Given the description of an element on the screen output the (x, y) to click on. 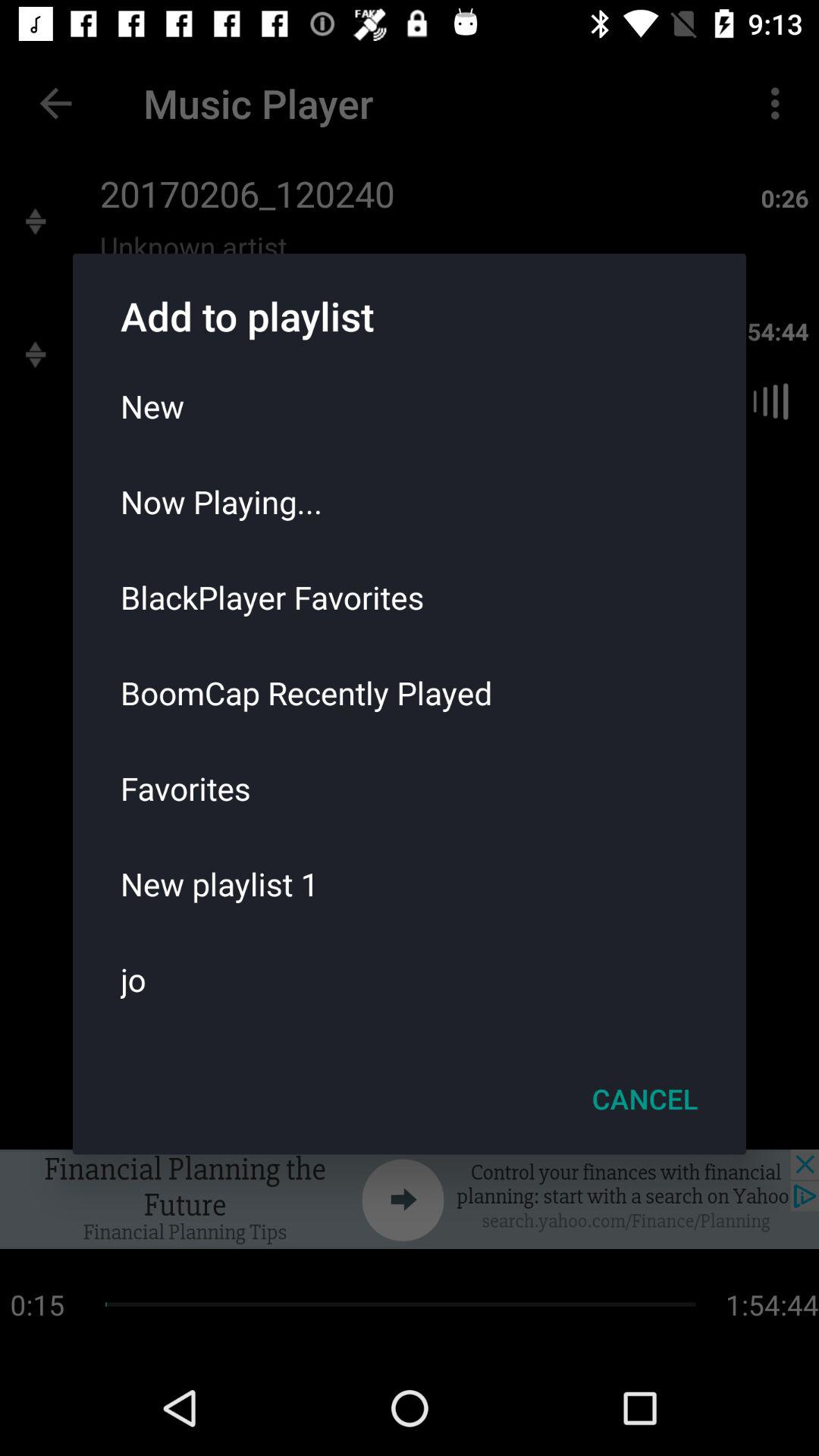
turn off item below the favorites item (409, 883)
